Given the description of an element on the screen output the (x, y) to click on. 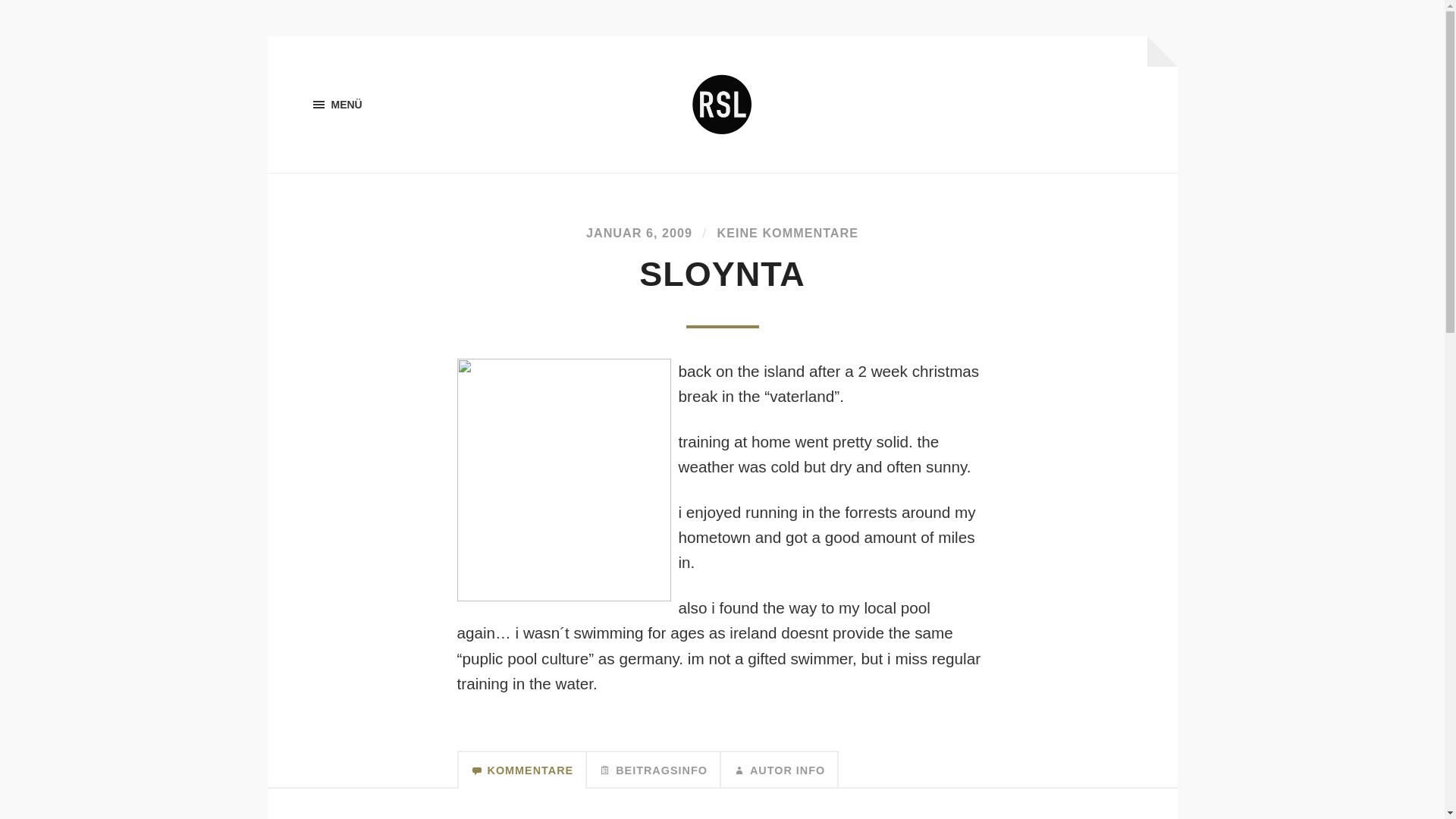
AUTOR INFO (779, 769)
KEINE KOMMENTARE (787, 232)
KOMMENTARE (521, 769)
JANUAR 6, 2009 (639, 232)
BEITRAGSINFO (653, 769)
10:42 pm (639, 232)
Klicke hier um die Navigation anzuzeigen (337, 104)
